Given the description of an element on the screen output the (x, y) to click on. 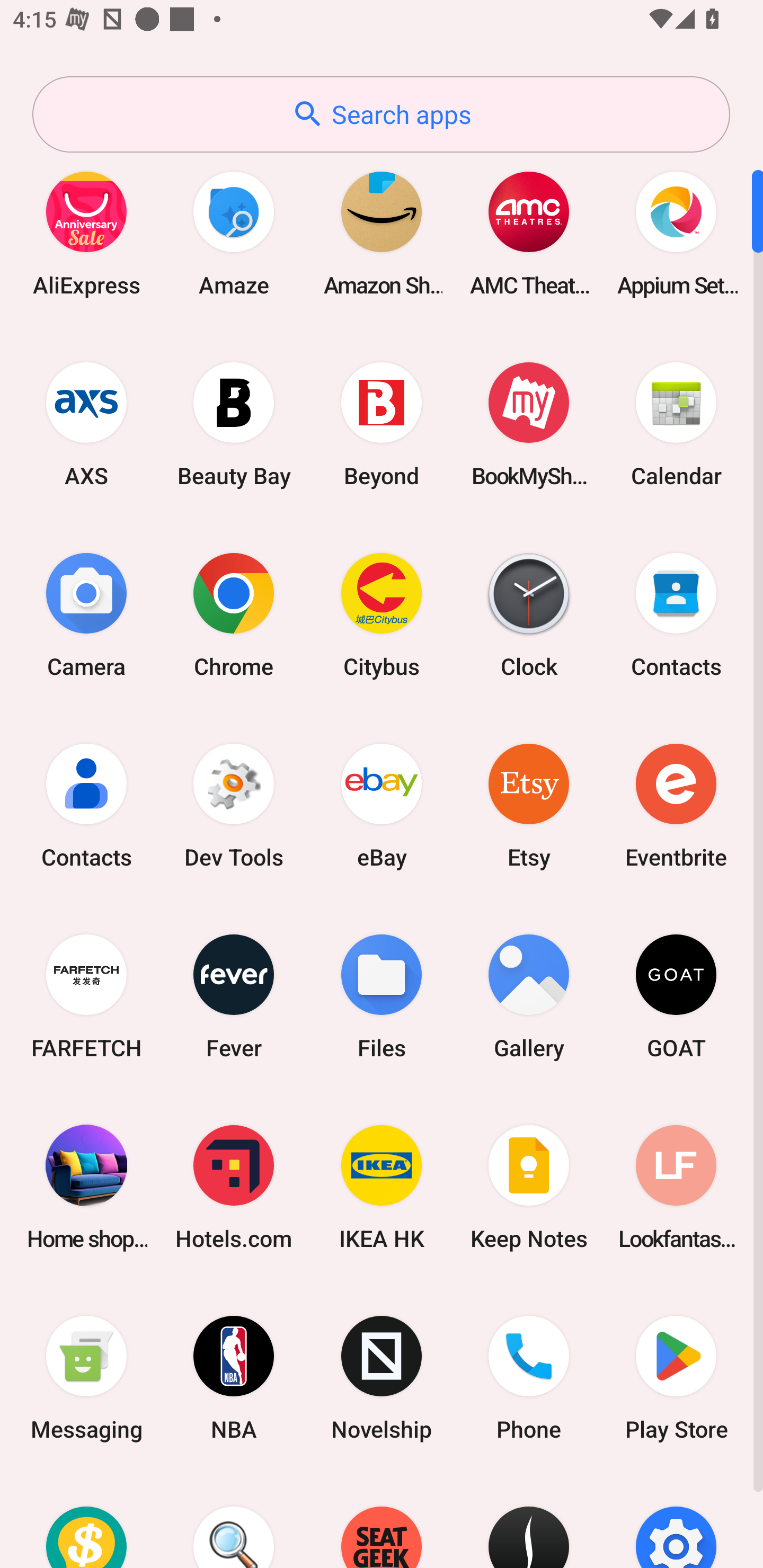
  Search apps (381, 114)
AliExpress (86, 233)
Amaze (233, 233)
Amazon Shopping (381, 233)
AMC Theatres (528, 233)
Appium Settings (676, 233)
AXS (86, 424)
Beauty Bay (233, 424)
Beyond (381, 424)
BookMyShow (528, 424)
Calendar (676, 424)
Camera (86, 614)
Chrome (233, 614)
Citybus (381, 614)
Clock (528, 614)
Contacts (676, 614)
Contacts (86, 805)
Dev Tools (233, 805)
eBay (381, 805)
Etsy (528, 805)
Eventbrite (676, 805)
FARFETCH (86, 996)
Fever (233, 996)
Files (381, 996)
Gallery (528, 996)
GOAT (676, 996)
Home shopping (86, 1186)
Hotels.com (233, 1186)
IKEA HK (381, 1186)
Keep Notes (528, 1186)
Lookfantastic (676, 1186)
Messaging (86, 1377)
NBA (233, 1377)
Novelship (381, 1377)
Phone (528, 1377)
Play Store (676, 1377)
Price (86, 1520)
Search (233, 1520)
SeatGeek (381, 1520)
Sephora (528, 1520)
Settings (676, 1520)
